Given the description of an element on the screen output the (x, y) to click on. 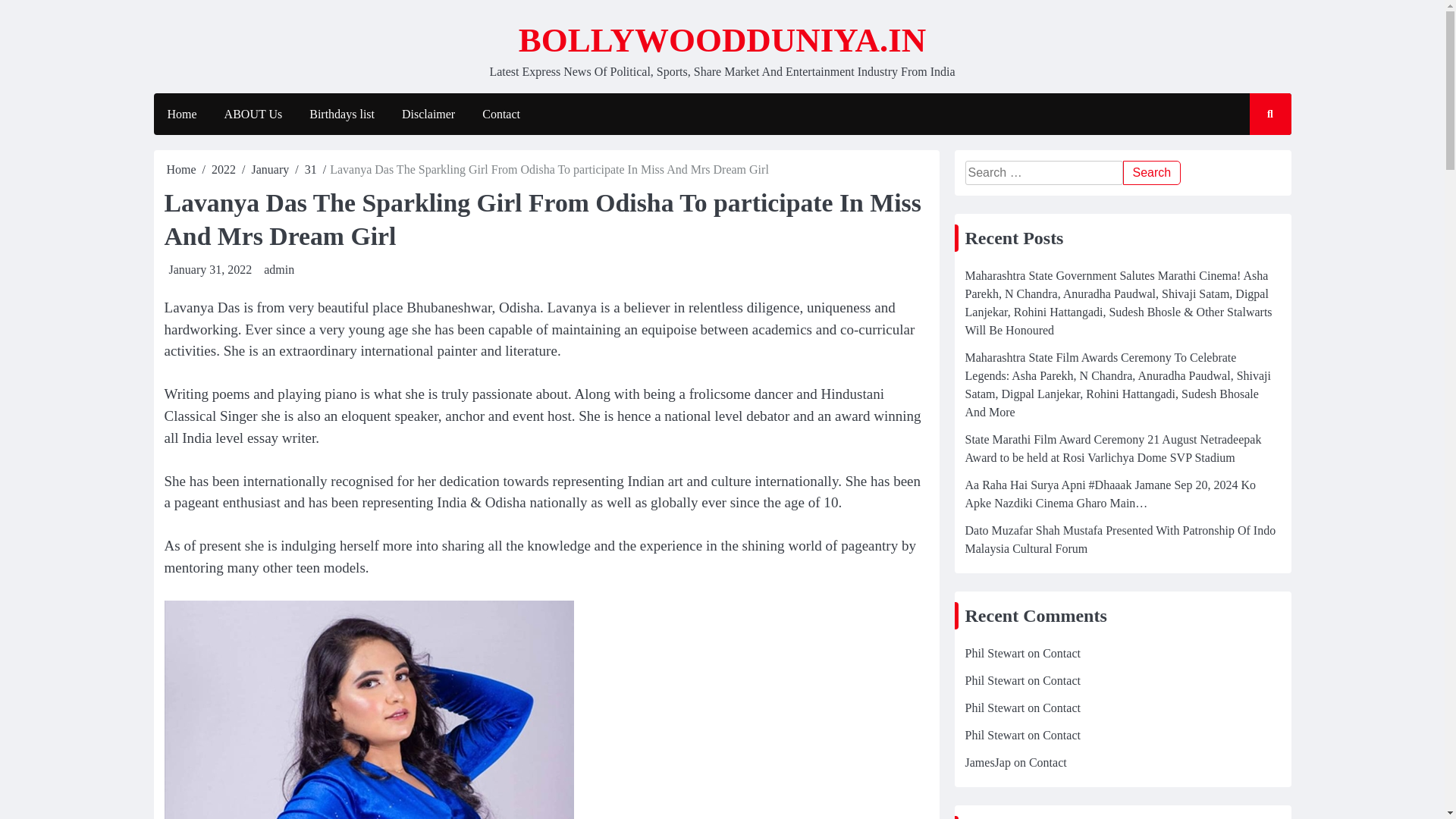
admin (278, 269)
Search (1256, 158)
Home (181, 169)
Search (1151, 172)
2022 (223, 169)
Search (1151, 172)
ABOUT Us (254, 114)
Disclaimer (428, 114)
BOLLYWOODDUNIYA.IN (722, 39)
Birthdays list (341, 114)
